Given the description of an element on the screen output the (x, y) to click on. 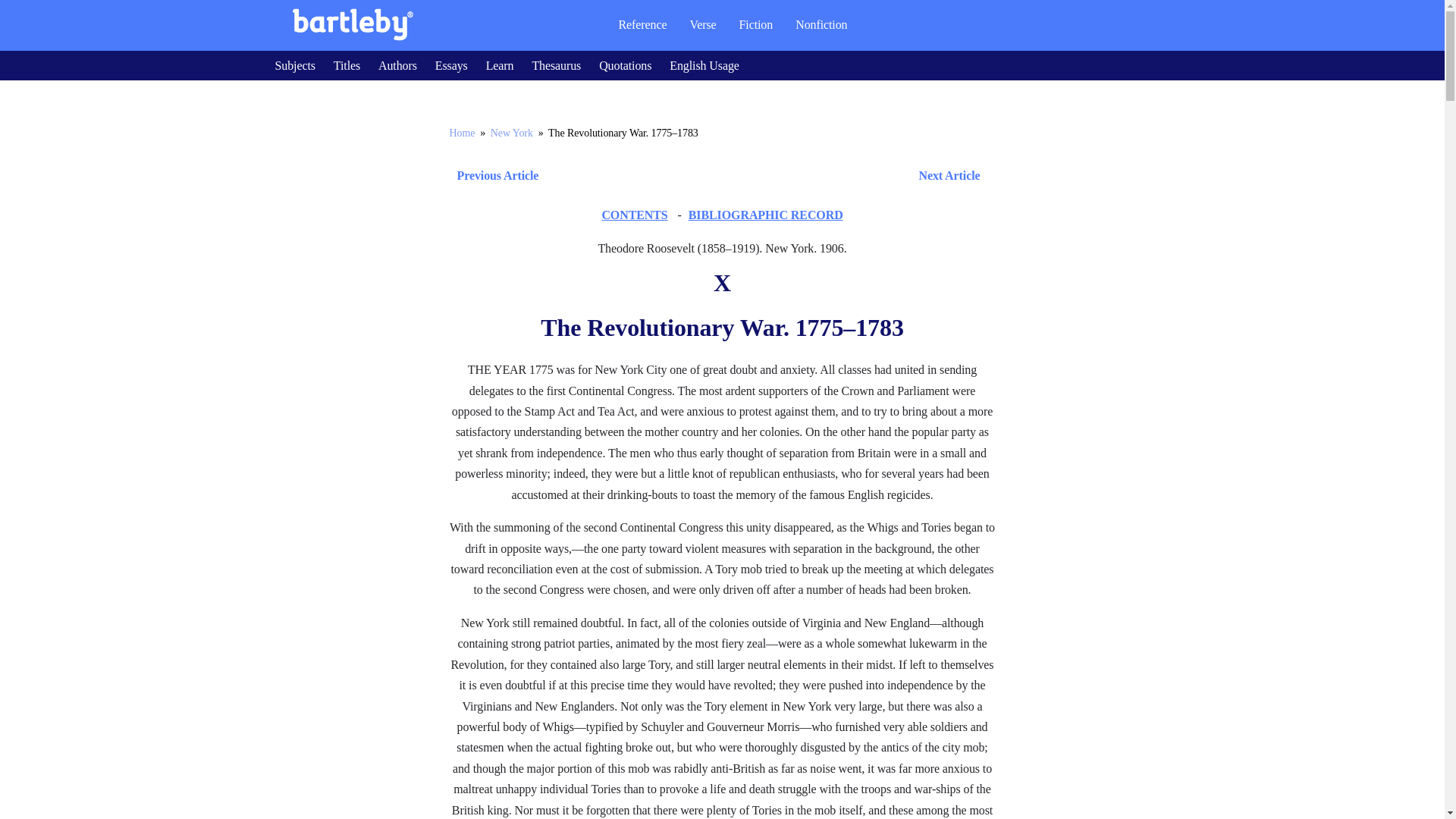
Nonfiction (821, 24)
Subjects (294, 65)
Home (461, 132)
Fiction (756, 24)
Previous Article (493, 175)
New York (511, 132)
English Usage (704, 65)
Verse (702, 24)
Next Article (766, 175)
Titles (346, 65)
Authors (397, 65)
Learn (499, 65)
Reference (642, 24)
Essays (451, 65)
Thesaurus (555, 65)
